Given the description of an element on the screen output the (x, y) to click on. 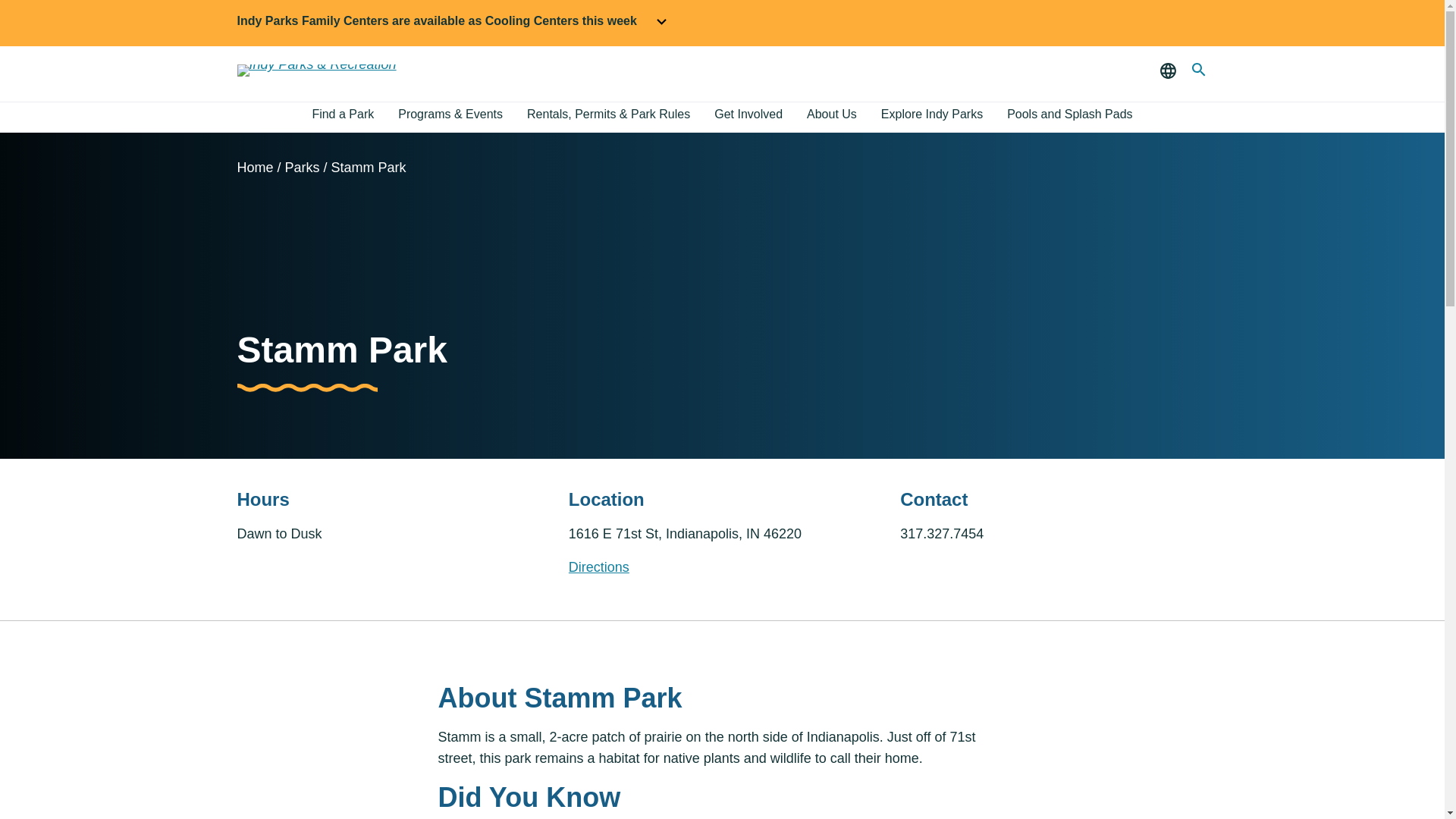
Find a Park (342, 115)
Directions (598, 566)
Explore Indy Parks (931, 115)
Parks (302, 167)
About Us (831, 115)
Home (254, 167)
Get Involved (748, 115)
Pools and Splash Pads (1069, 115)
